Given the description of an element on the screen output the (x, y) to click on. 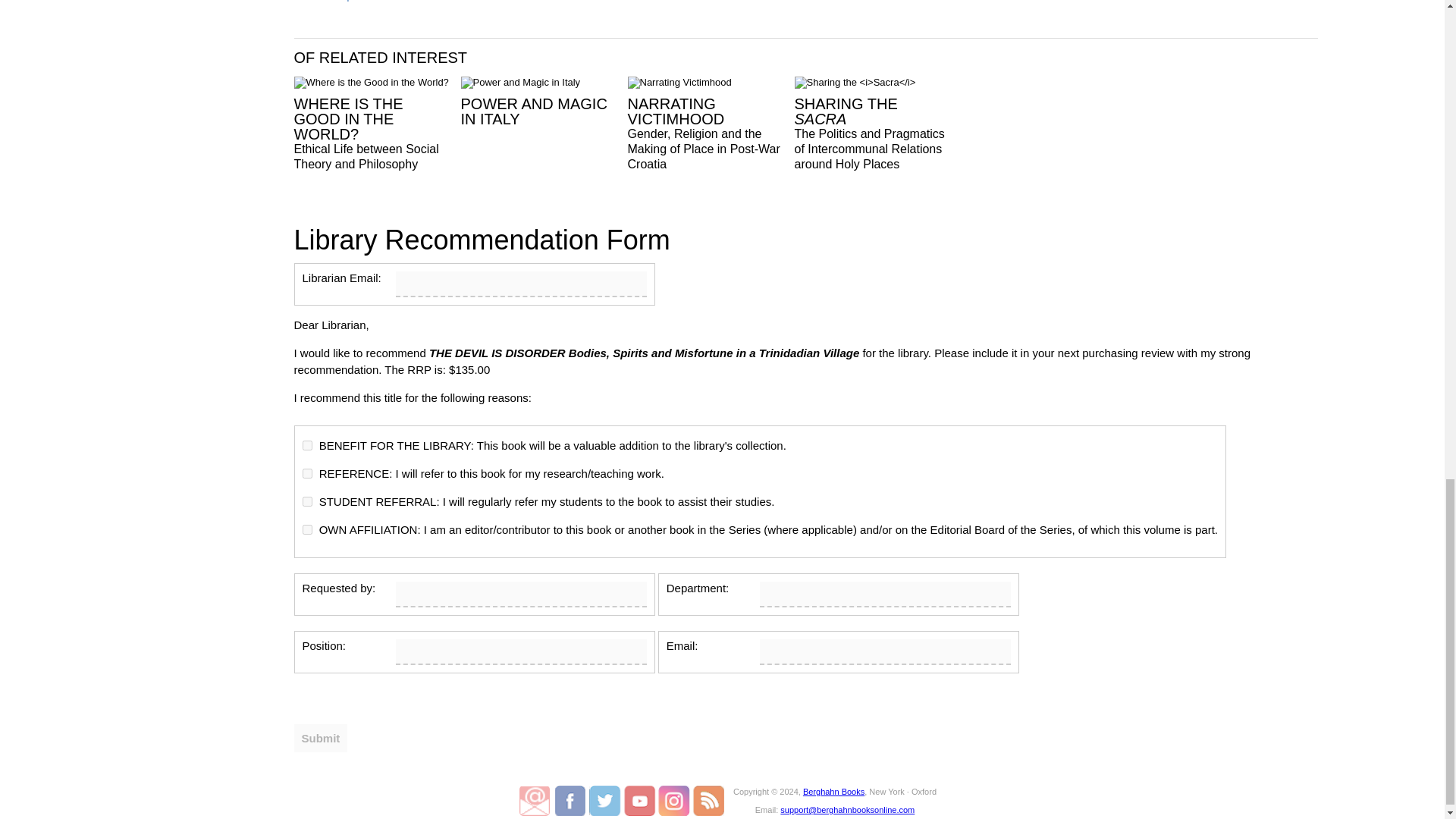
Berghahn Books on Facebook (571, 800)
Submit (320, 737)
on (306, 445)
on (306, 473)
on (306, 529)
on (306, 501)
Berghahn Books on Twitter (606, 800)
